Given the description of an element on the screen output the (x, y) to click on. 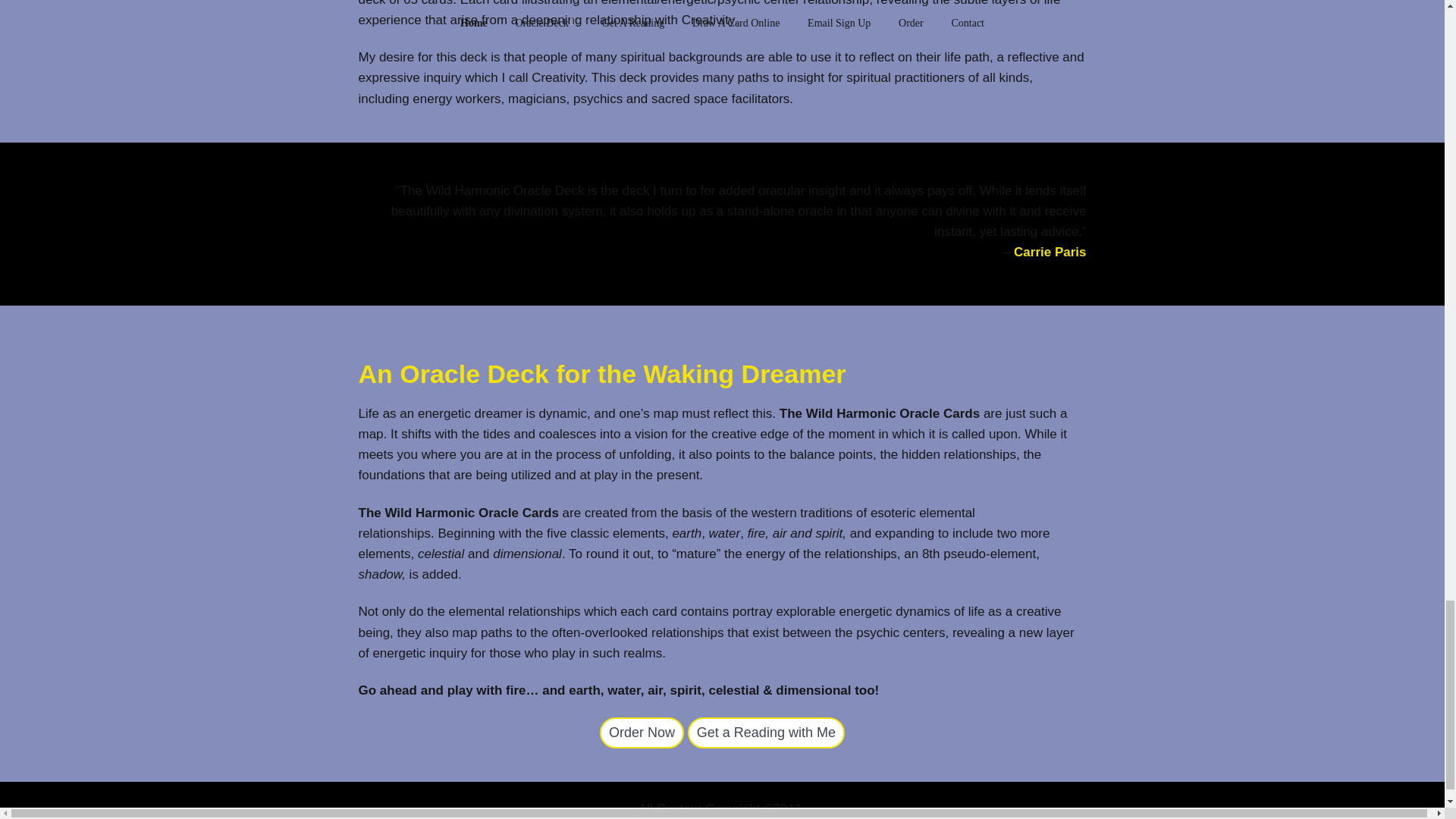
Card Guide (641, 732)
Carrie Paris (1049, 251)
Get a Reading with Me (765, 732)
Card Guide (765, 732)
Order Now (641, 732)
